Given the description of an element on the screen output the (x, y) to click on. 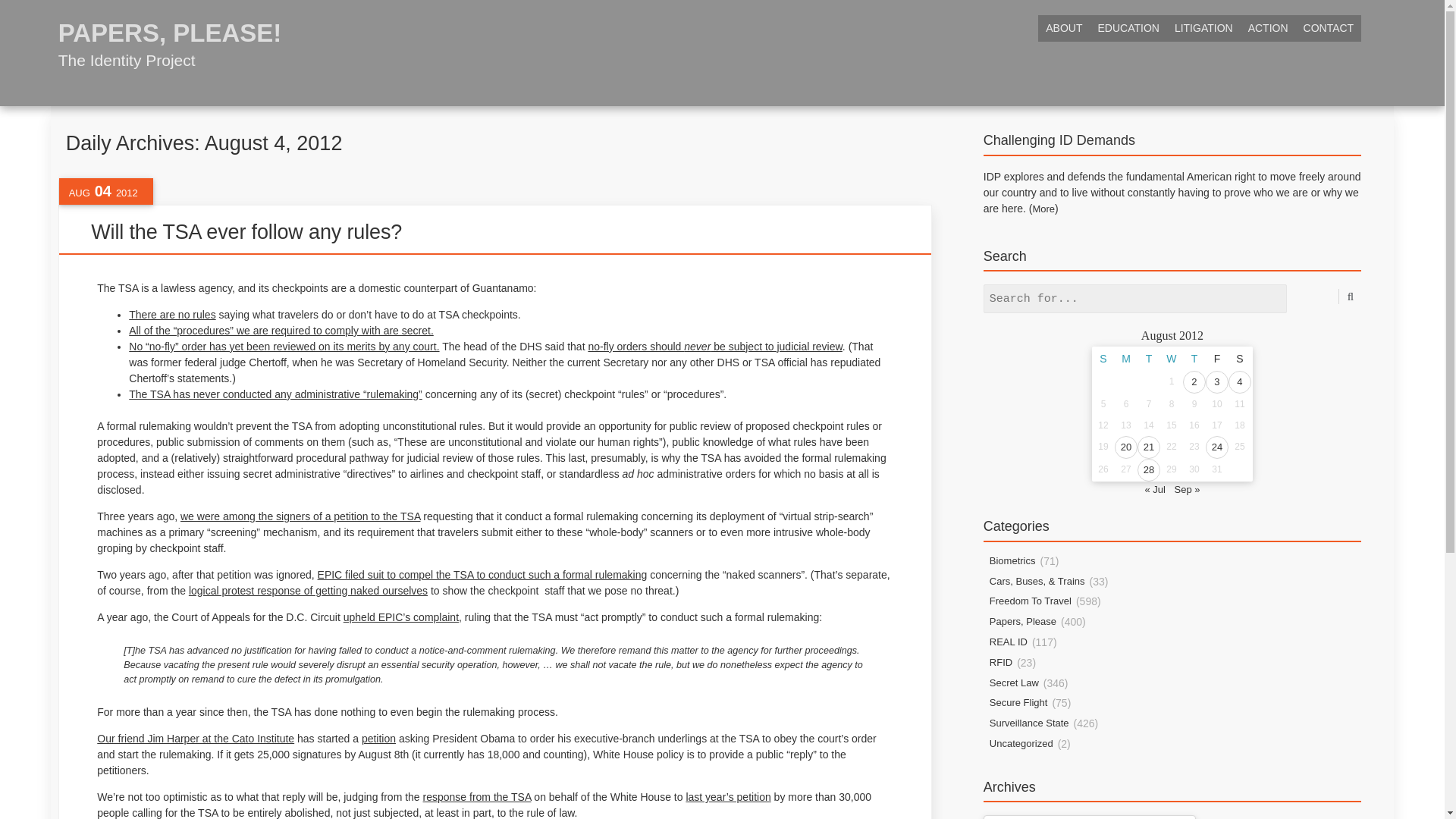
The Identity Project (170, 40)
Monday (1126, 358)
Friday (1216, 358)
LITIGATION (1203, 28)
Tuesday (1148, 358)
Thursday (1193, 358)
ABOUT (1063, 28)
EDUCATION (1127, 28)
Sunday (1103, 358)
ACTION (1267, 28)
